Given the description of an element on the screen output the (x, y) to click on. 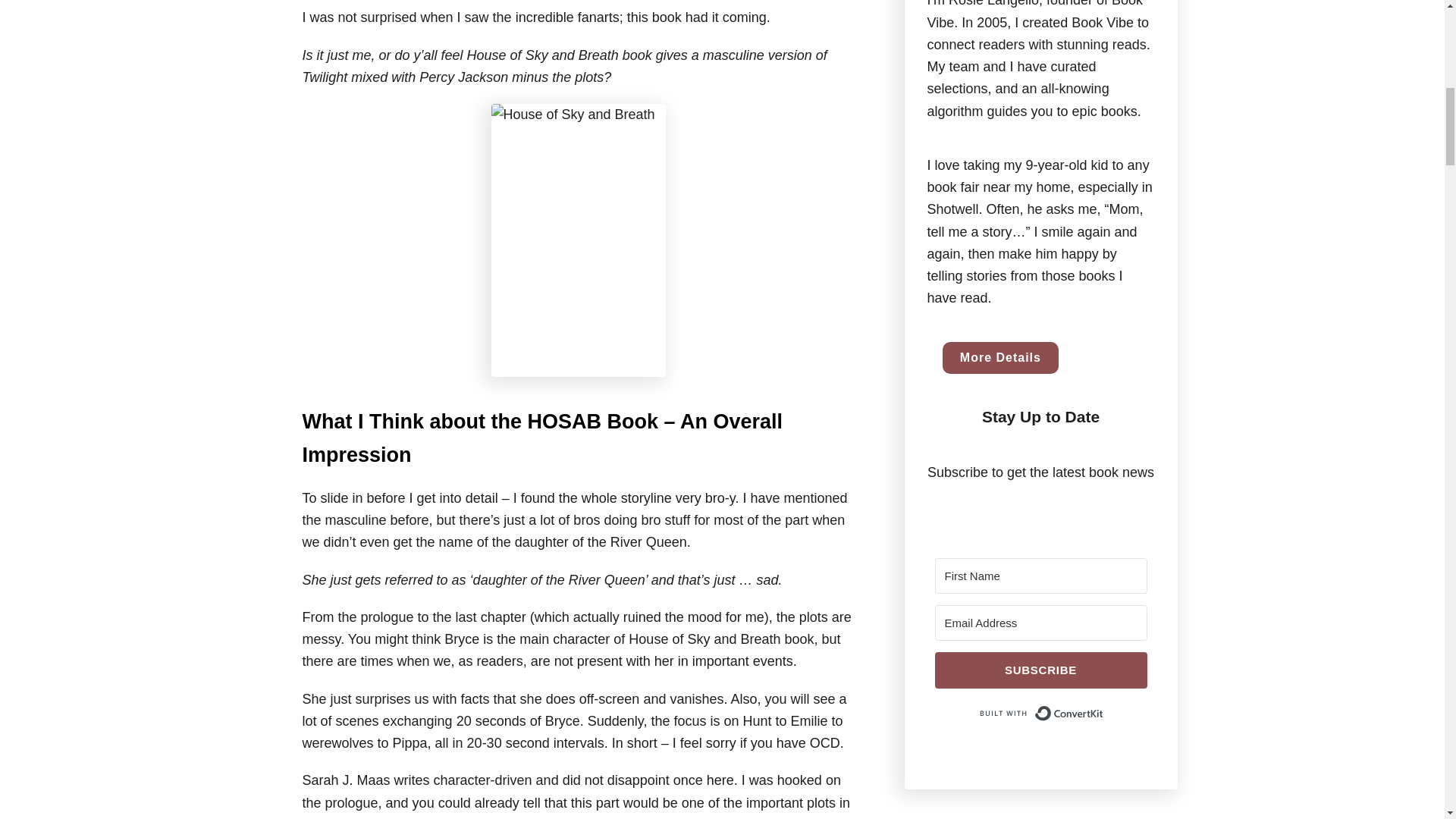
More Details (1000, 357)
Built With ConvertKit (1040, 713)
SUBSCRIBE (1040, 669)
